Given the description of an element on the screen output the (x, y) to click on. 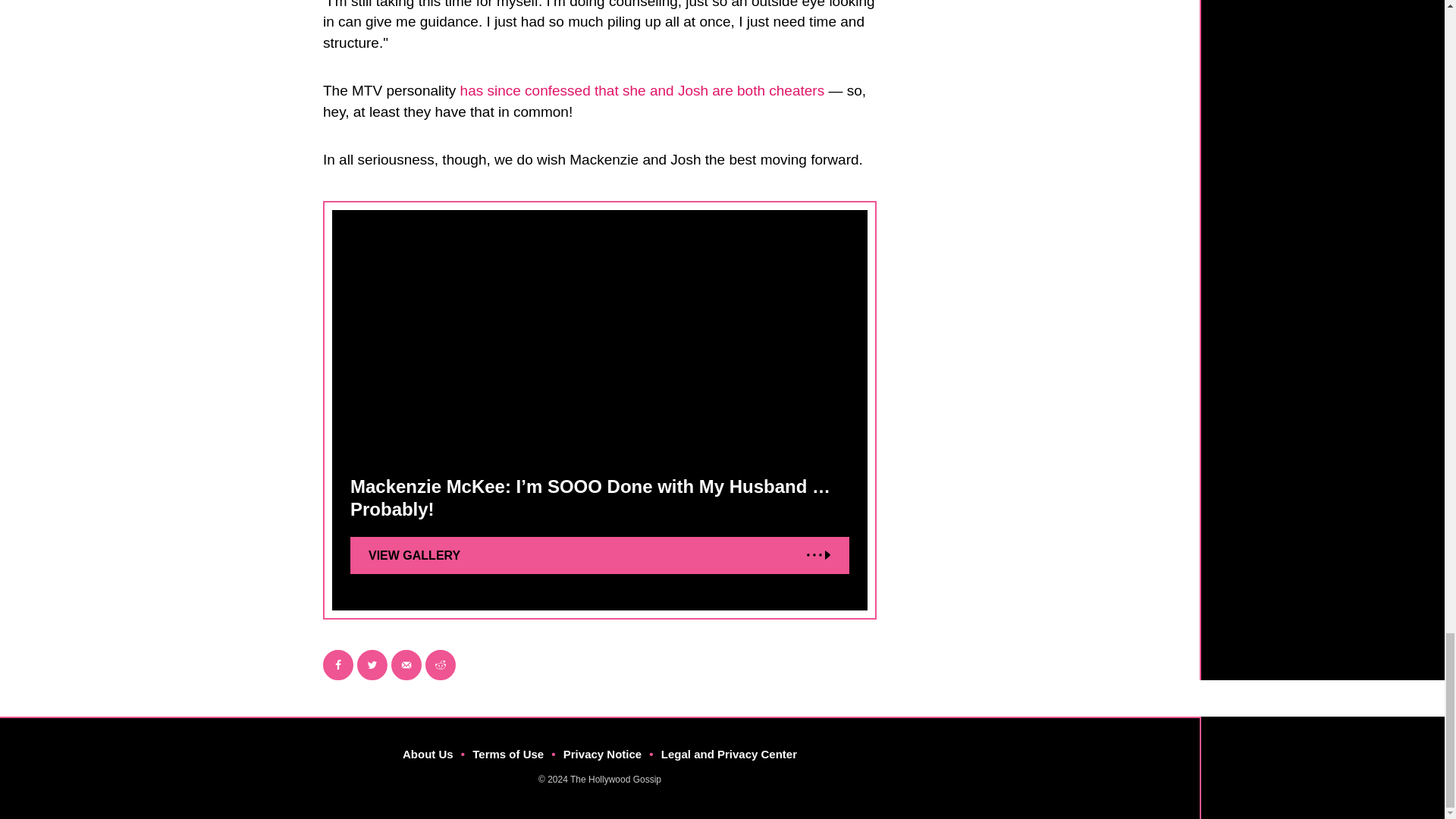
Share on Twitter (371, 665)
Send over email (406, 665)
Share on Reddit (440, 665)
Share on Facebook (338, 665)
